Given the description of an element on the screen output the (x, y) to click on. 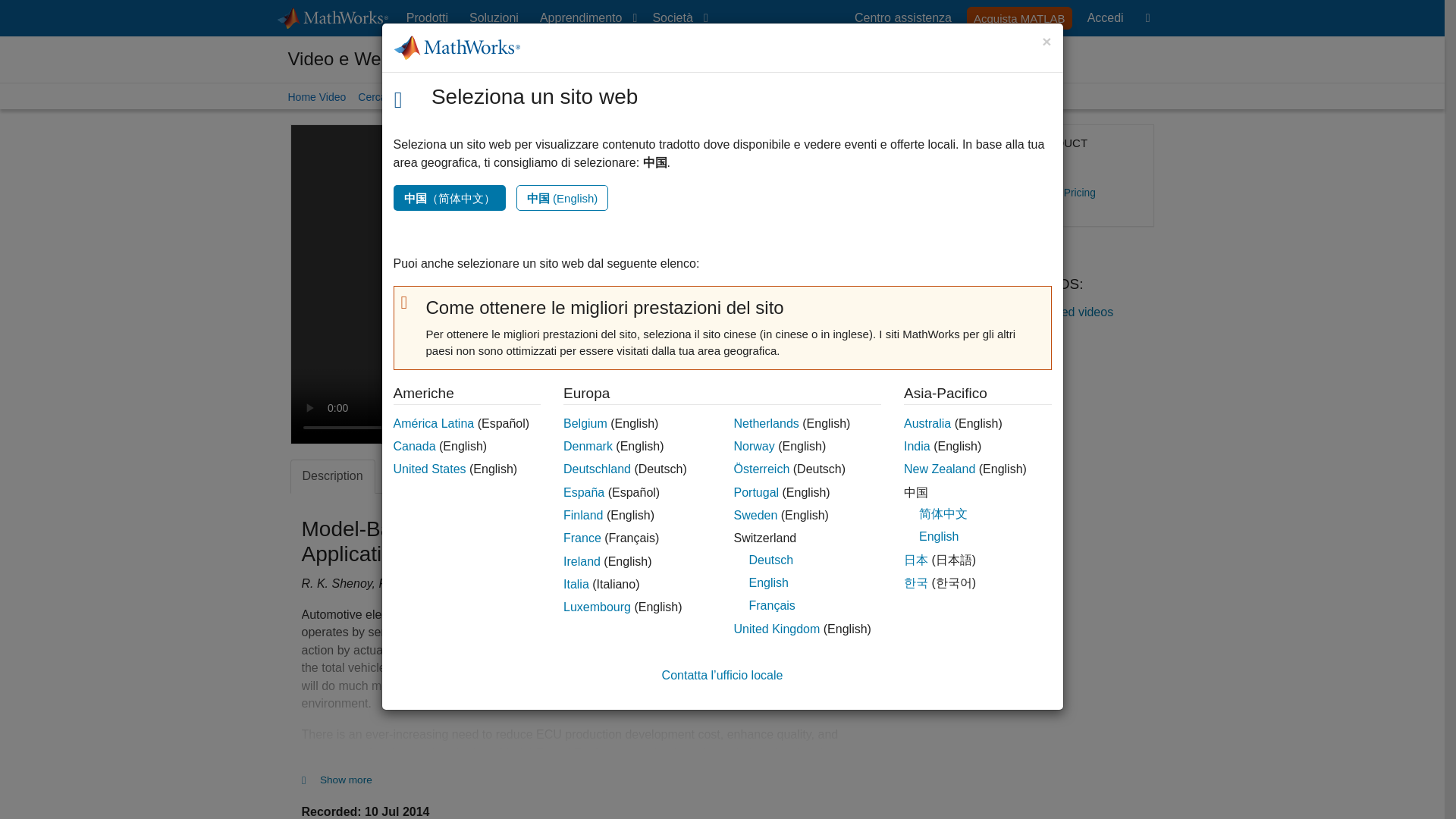
Accedere al proprio MathWorks Account (1105, 18)
Prodotti (427, 18)
Soluzioni (493, 18)
Centro assistenza (903, 18)
Acquista MATLAB (1018, 17)
Apprendimento (585, 18)
